Given the description of an element on the screen output the (x, y) to click on. 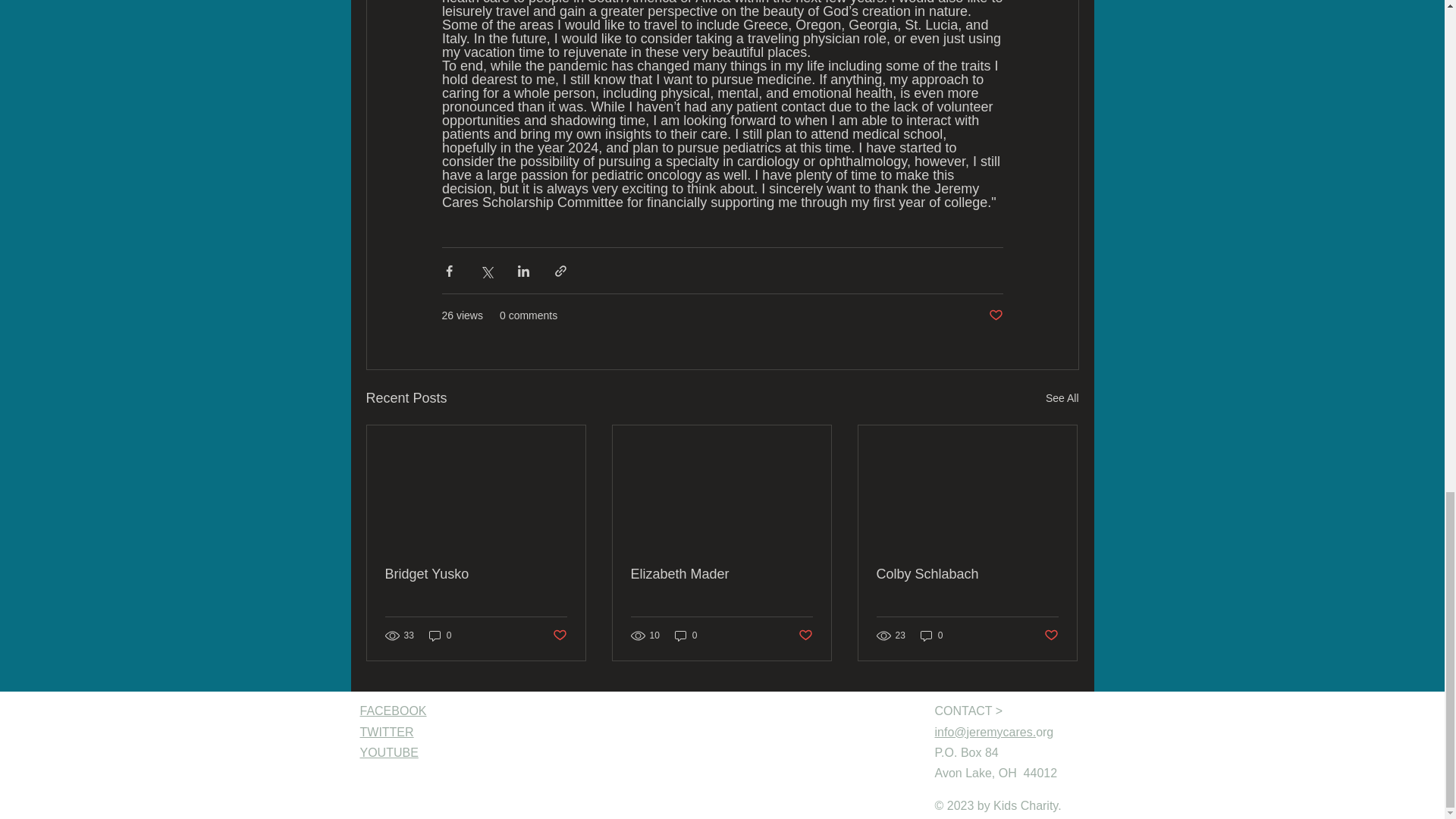
Bridget Yusko (476, 574)
See All (1061, 398)
0 (440, 635)
Post not marked as liked (995, 315)
Post not marked as liked (558, 635)
